Given the description of an element on the screen output the (x, y) to click on. 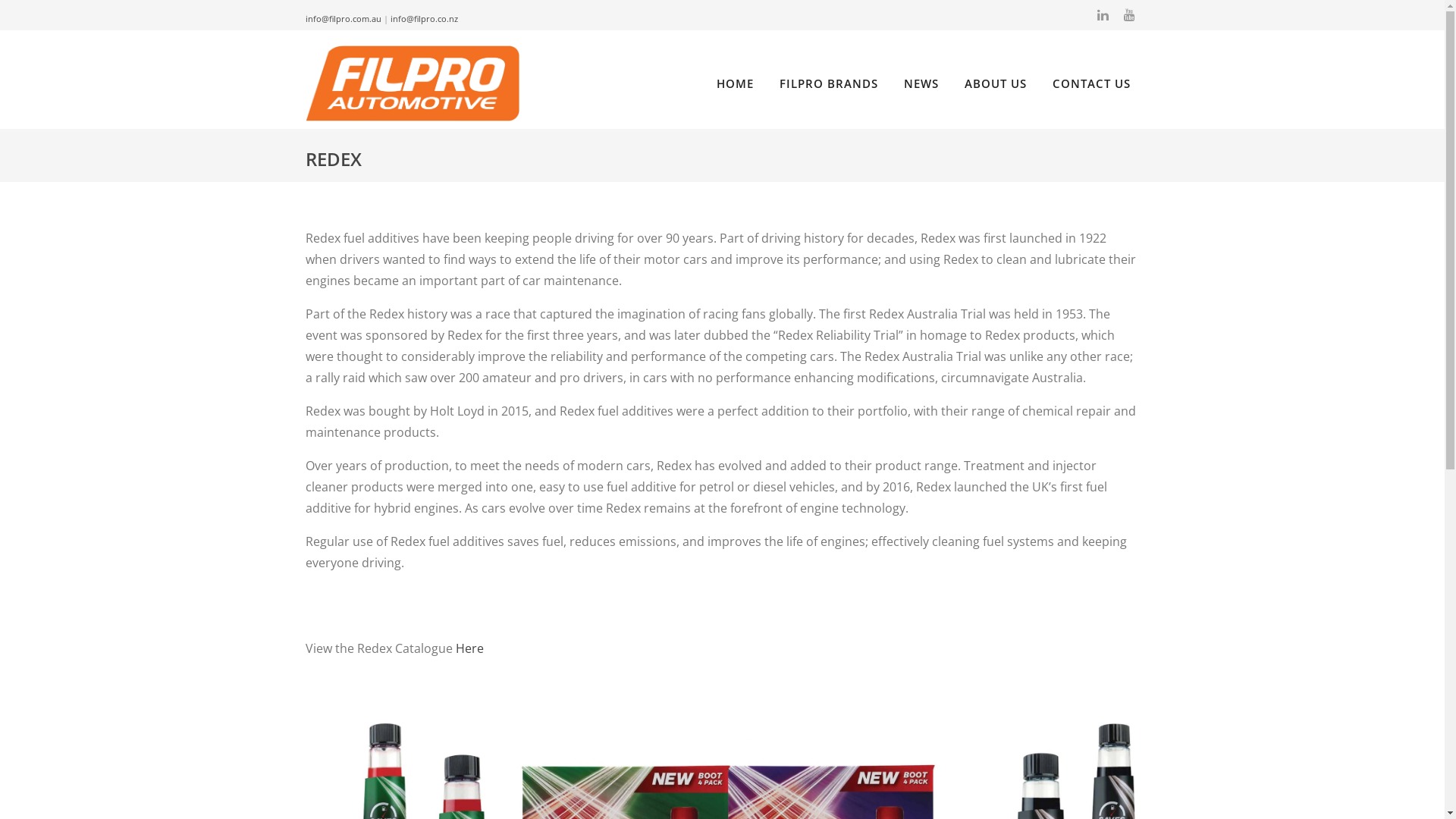
info@filpro.co.nz Element type: text (423, 18)
ABOUT US Element type: text (995, 83)
FILPRO BRANDS Element type: text (828, 83)
CONTACT US Element type: text (1091, 83)
HOME Element type: text (734, 83)
Here Element type: text (469, 648)
info@filpro.com.au Element type: text (342, 18)
NEWS Element type: text (920, 83)
